Given the description of an element on the screen output the (x, y) to click on. 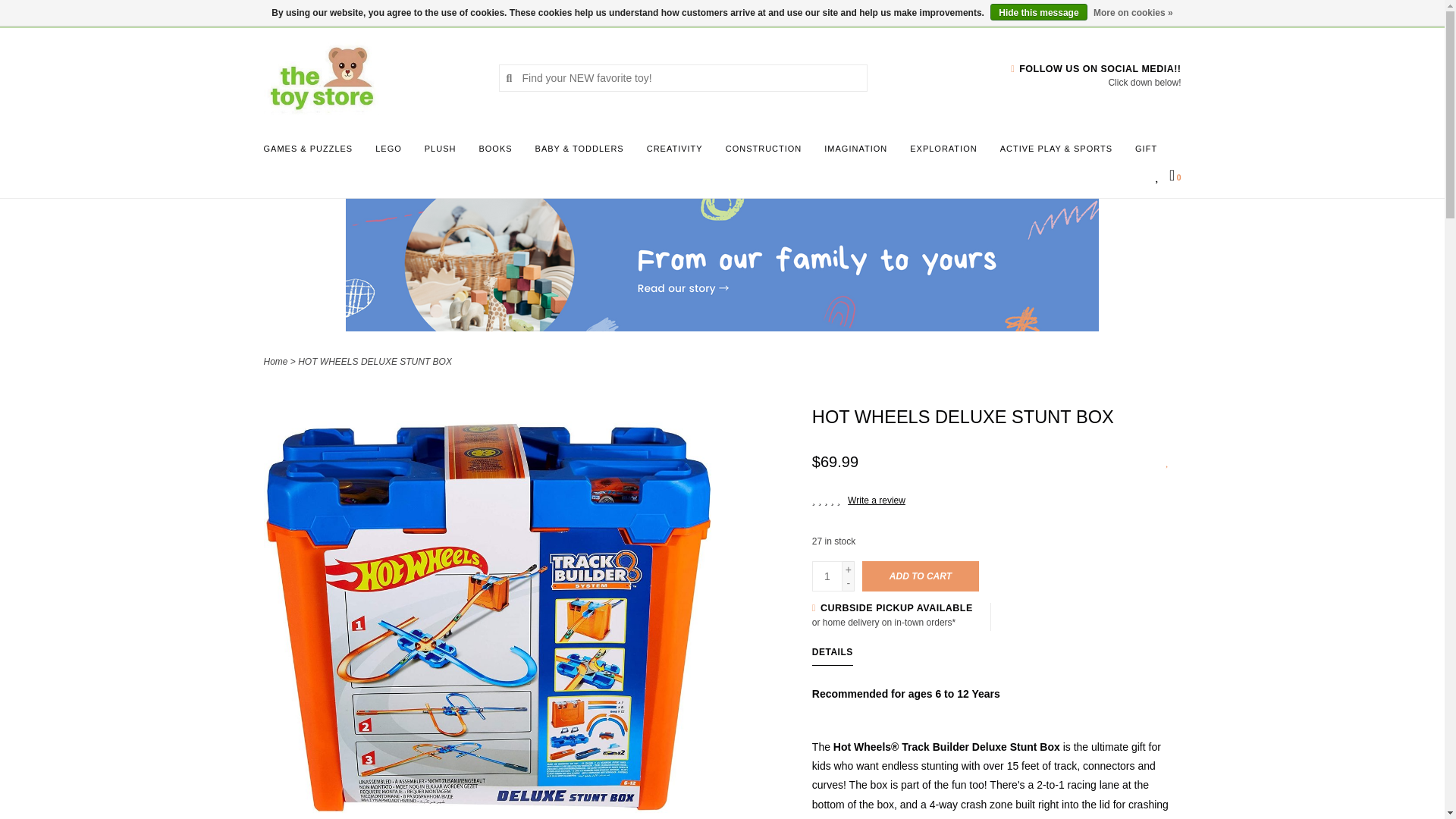
Login (390, 12)
Locations (1152, 12)
THE TOY STORE (369, 77)
Contact us (341, 12)
1 (827, 576)
Currency (282, 12)
LEGO (392, 152)
My account (390, 12)
